Given the description of an element on the screen output the (x, y) to click on. 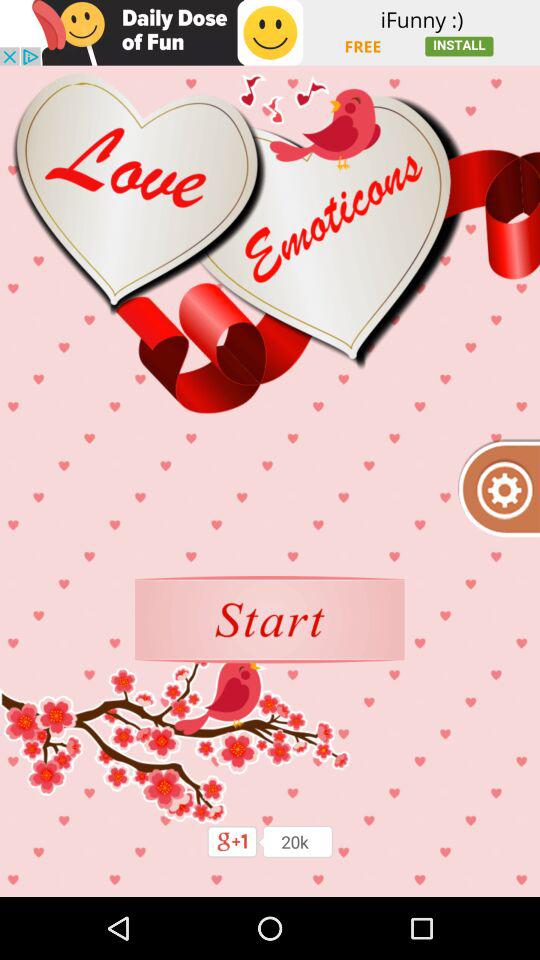
shows the advertisement tab (270, 32)
